Given the description of an element on the screen output the (x, y) to click on. 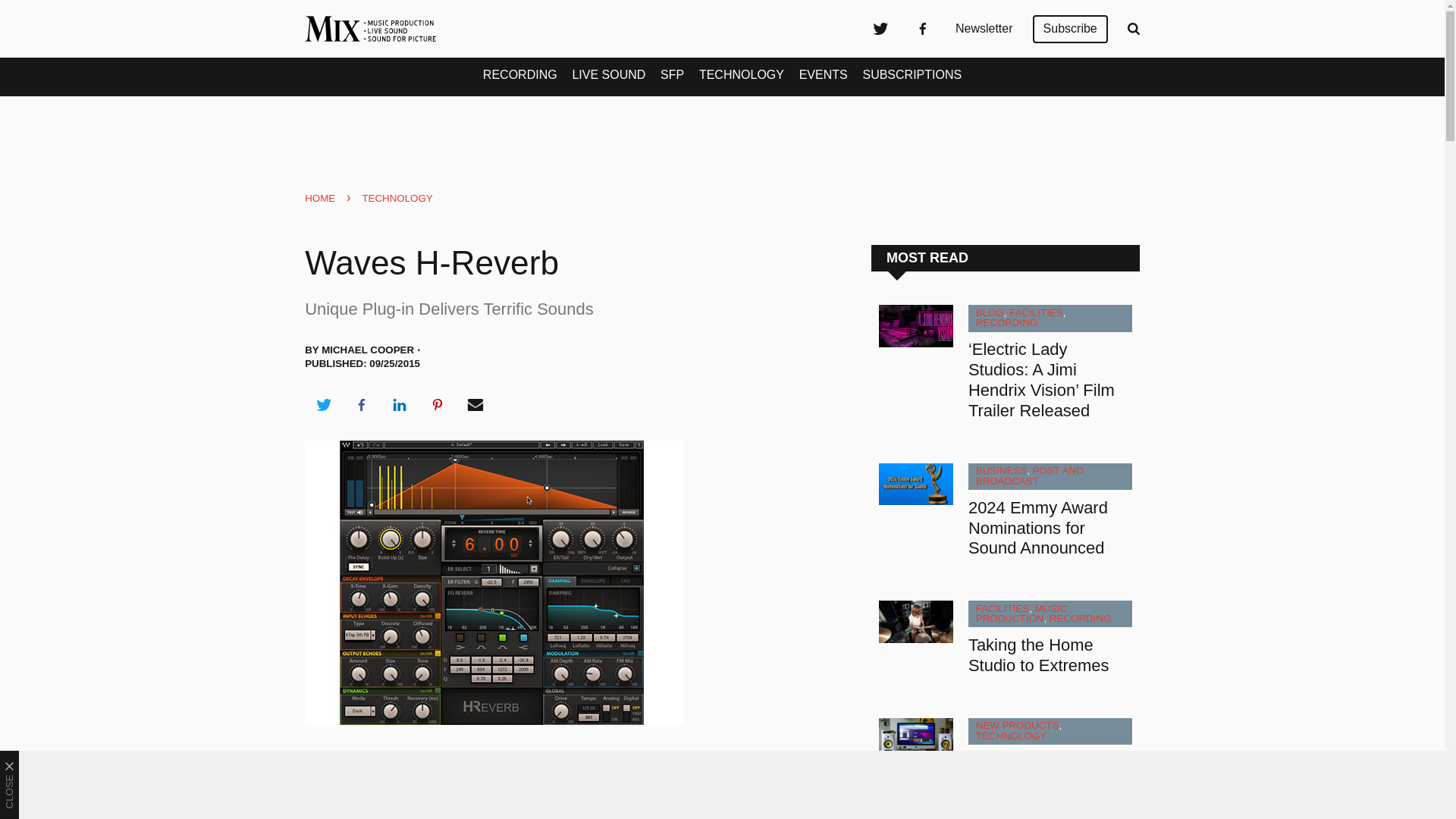
Share on Pinterest (438, 404)
Share via Email (476, 404)
Share on Facebook (361, 404)
Share on Twitter (323, 404)
Share on LinkedIn (399, 404)
